Given the description of an element on the screen output the (x, y) to click on. 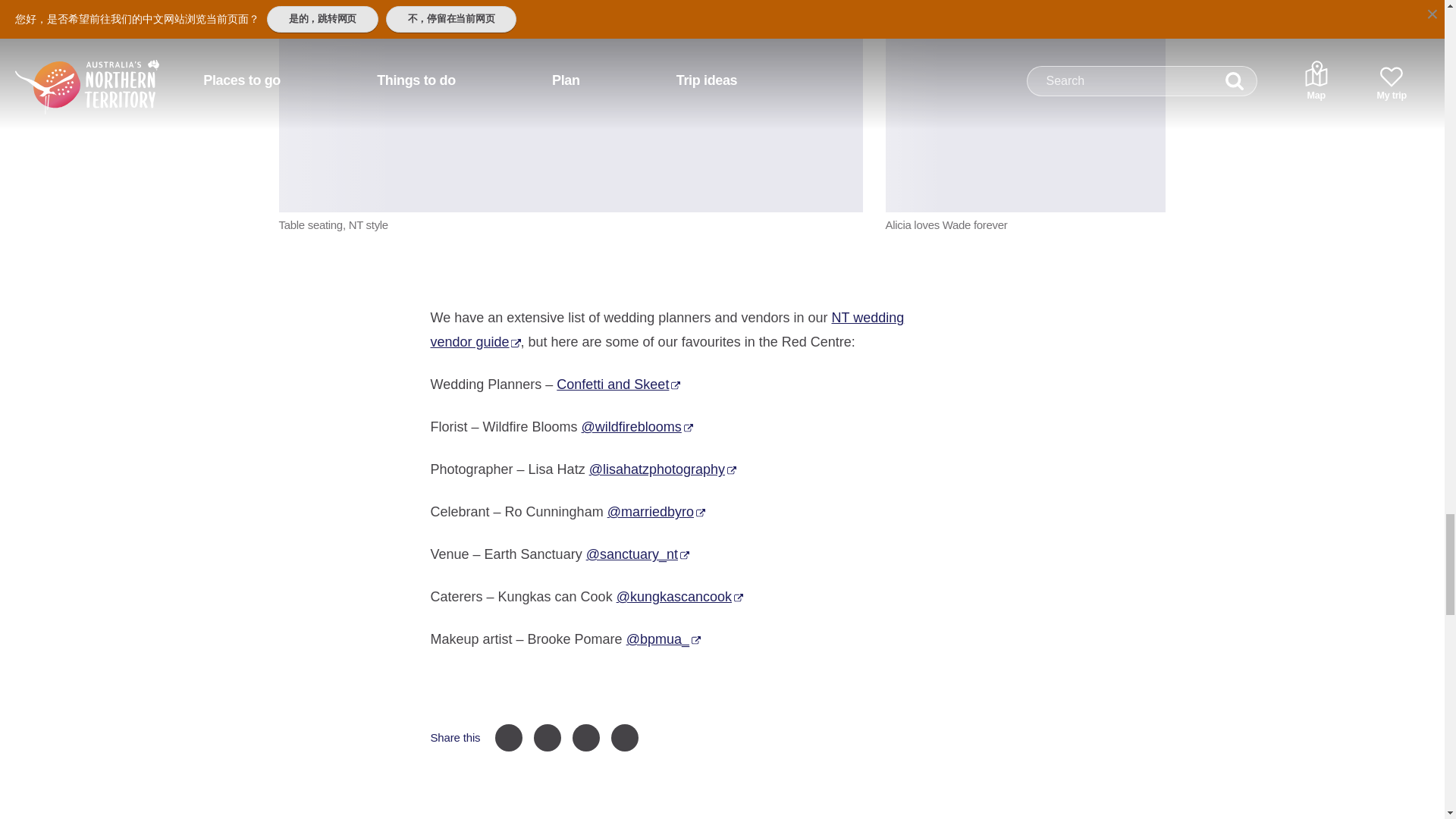
Twitter (585, 737)
Facebook (508, 737)
Pinterest (547, 737)
